Given the description of an element on the screen output the (x, y) to click on. 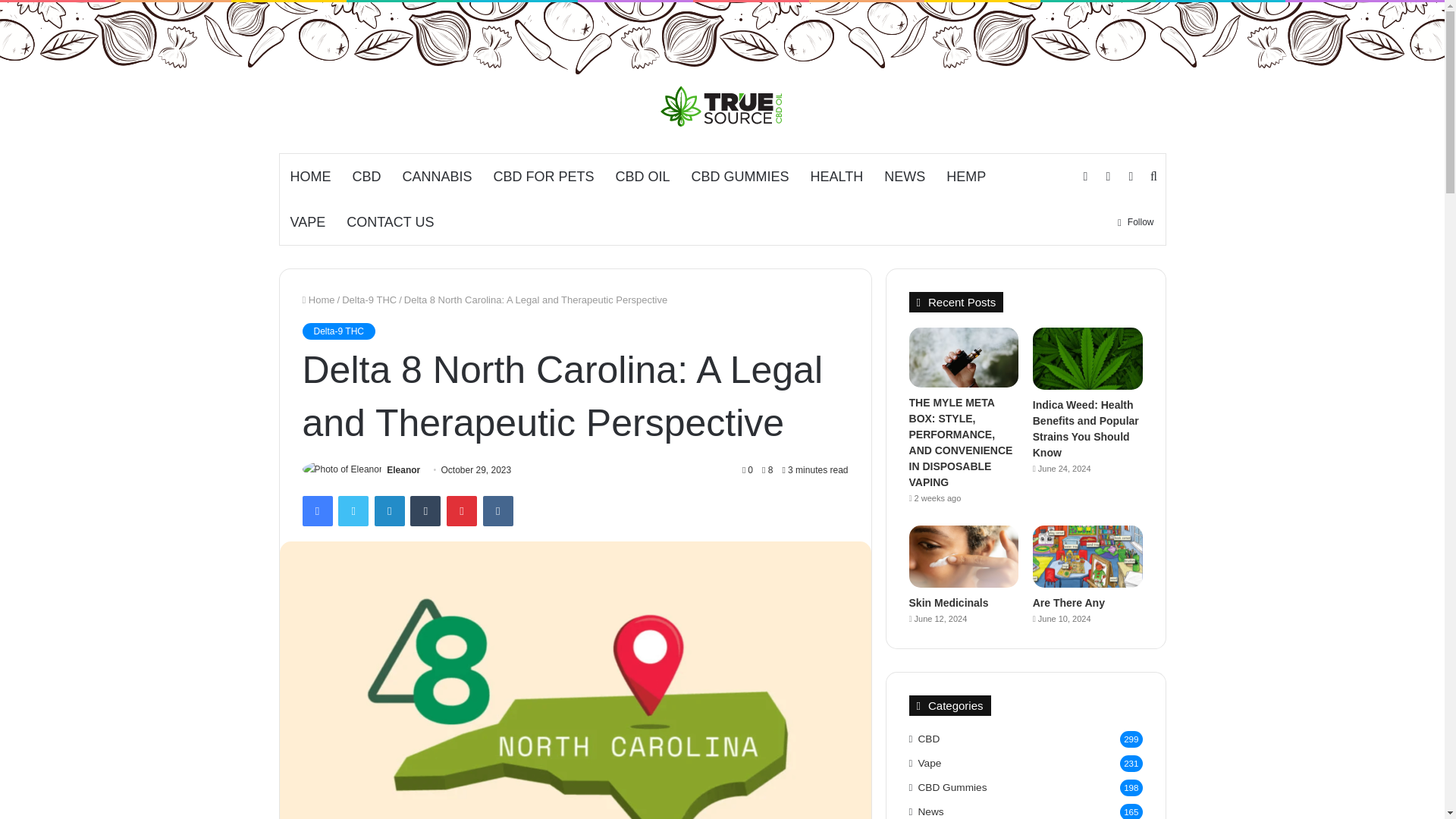
Facebook (316, 511)
NEWS (904, 176)
CBD OIL (643, 176)
Pinterest (461, 511)
Eleanor (403, 470)
CBD (365, 176)
Twitter (352, 511)
HEMP (965, 176)
Eleanor (403, 470)
TRUE SOURCE CBD OIL (722, 105)
Delta-9 THC (369, 299)
Facebook (316, 511)
CBD GUMMIES (740, 176)
Home (317, 299)
Tumblr (425, 511)
